Given the description of an element on the screen output the (x, y) to click on. 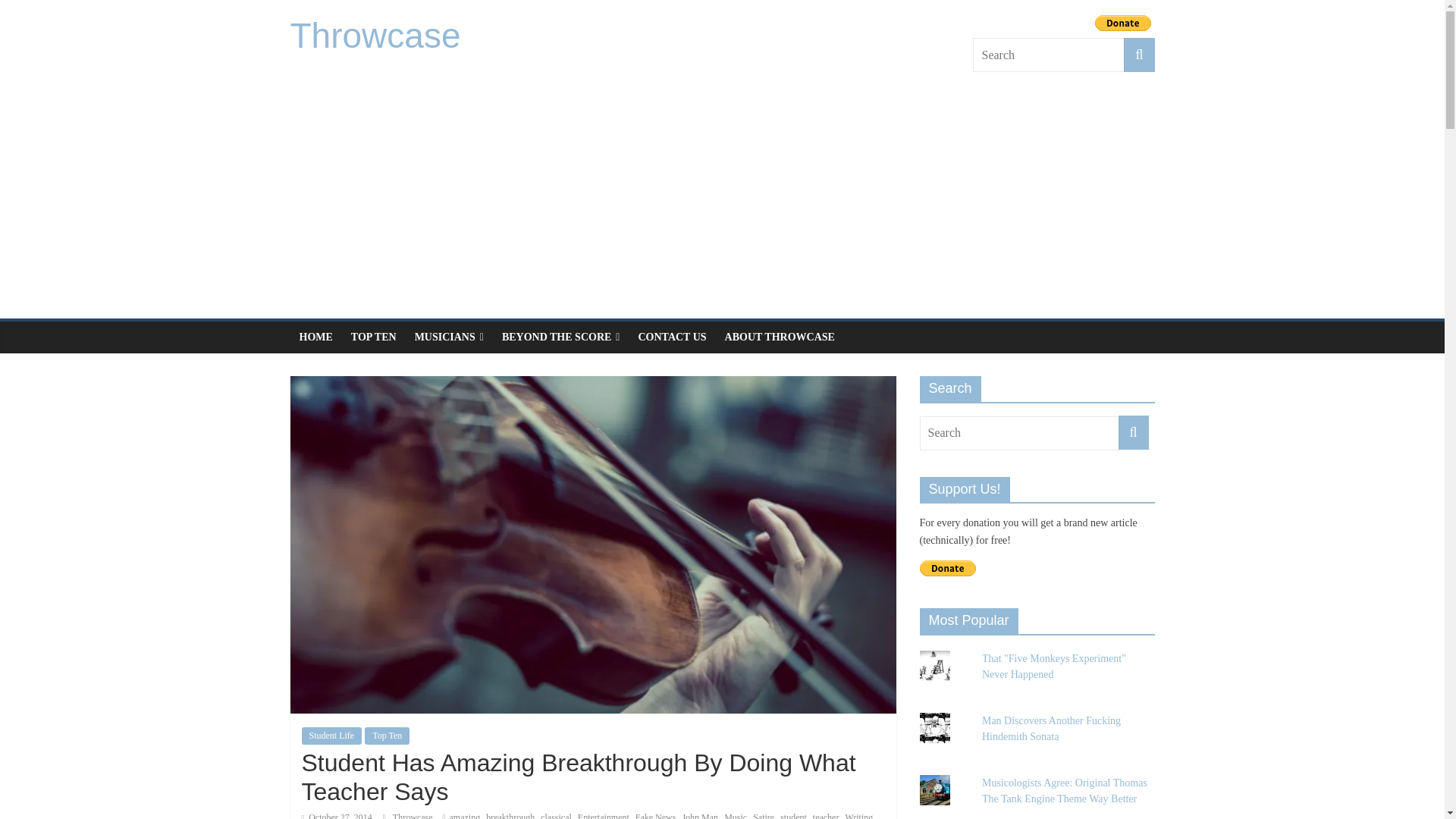
BEYOND THE SCORE (560, 336)
Entertainment (603, 815)
Top Ten (387, 735)
John Man (699, 815)
student (793, 815)
Student Life (331, 735)
breakthrough (510, 815)
CONTACT US (671, 336)
ABOUT THROWCASE (780, 336)
